Given the description of an element on the screen output the (x, y) to click on. 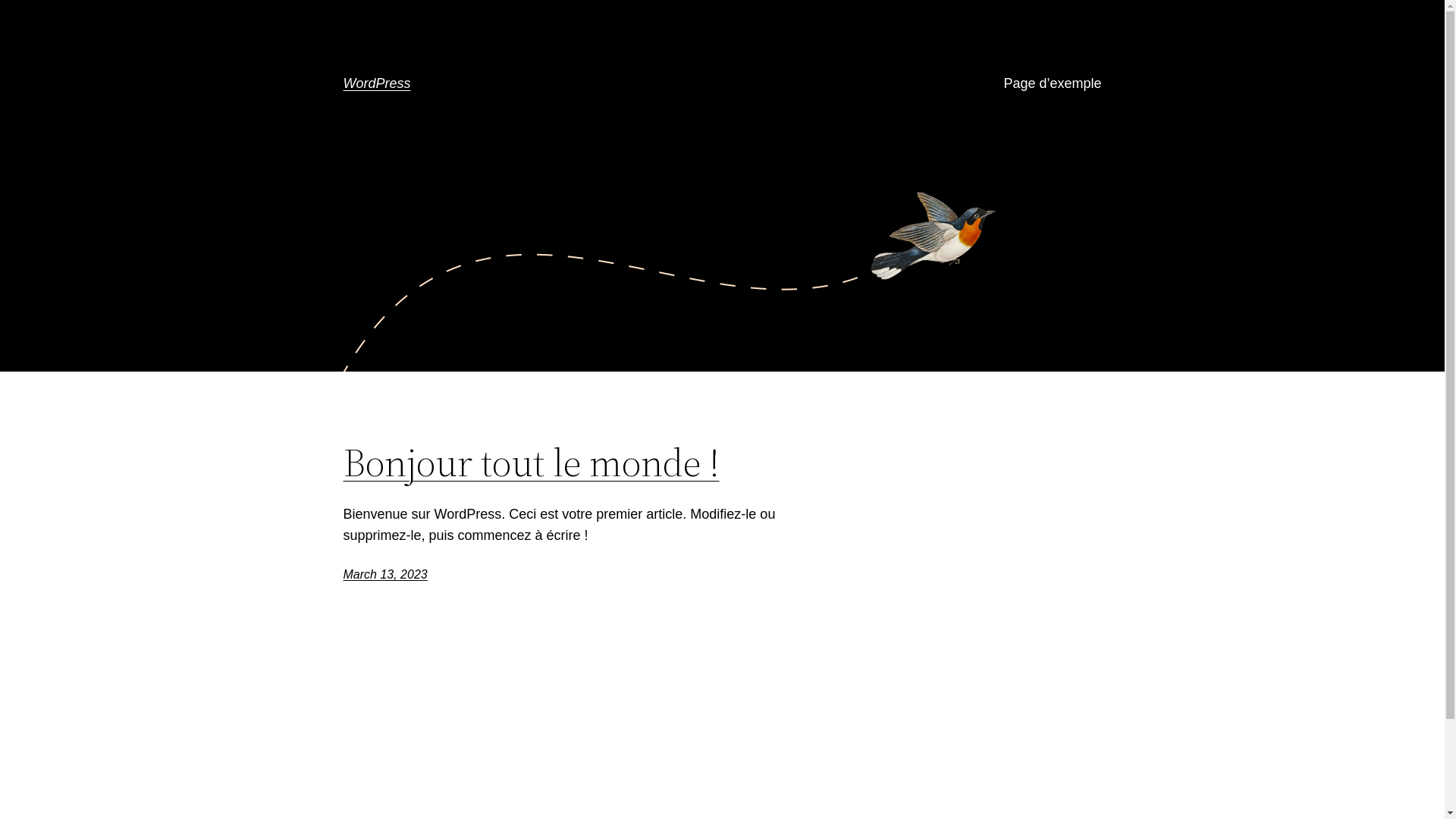
Bonjour tout le monde ! Element type: text (530, 462)
WordPress Element type: text (376, 83)
March 13, 2023 Element type: text (384, 573)
